Given the description of an element on the screen output the (x, y) to click on. 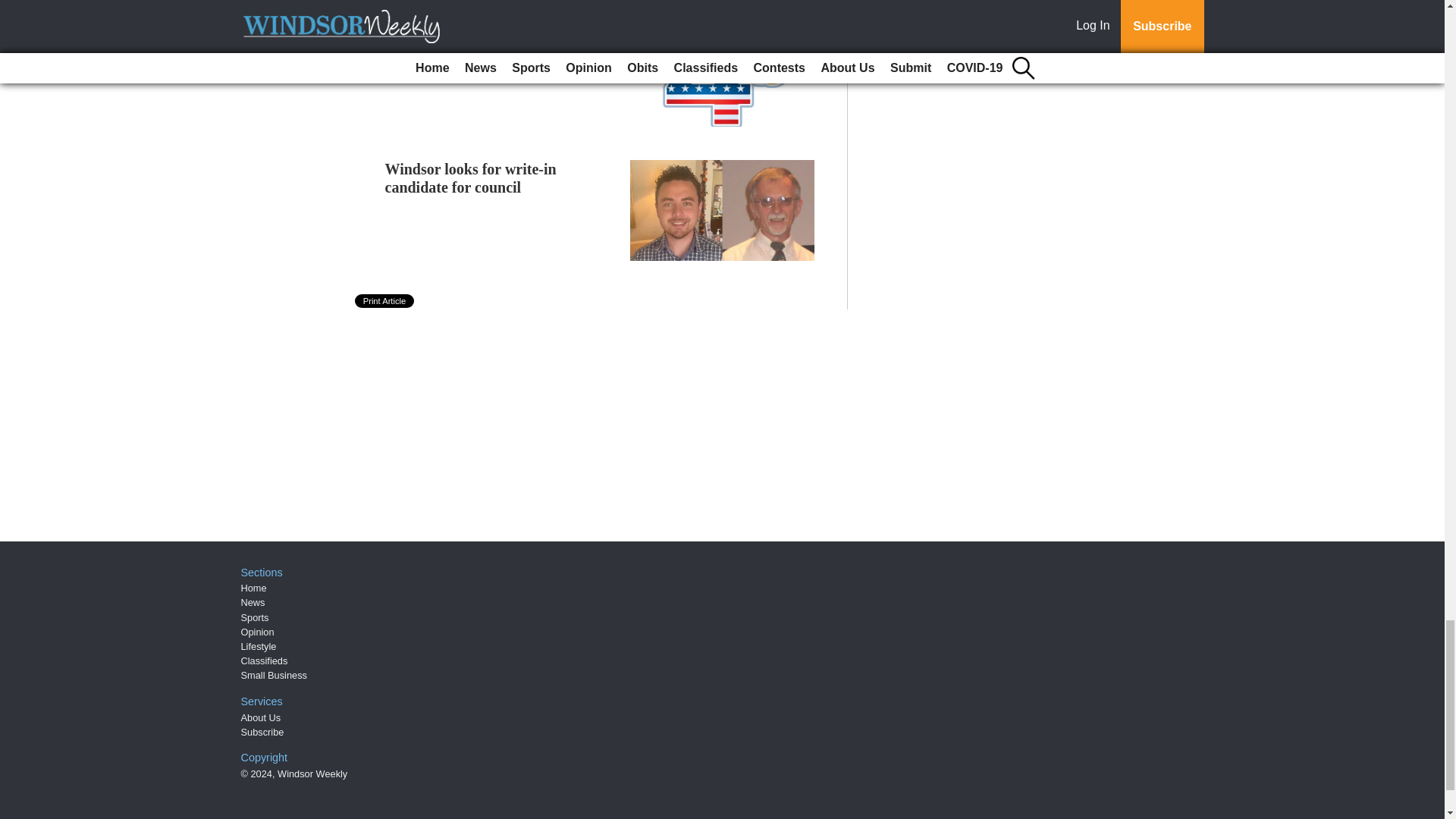
Classifieds (264, 660)
Home (253, 587)
News (252, 602)
Print Article (384, 300)
Sports (255, 617)
Small Business (274, 674)
Windsor looks for write-in candidate for council (470, 177)
Lifestyle (258, 645)
Opinion (258, 632)
Windsor looks for write-in candidate for council (470, 177)
